Given the description of an element on the screen output the (x, y) to click on. 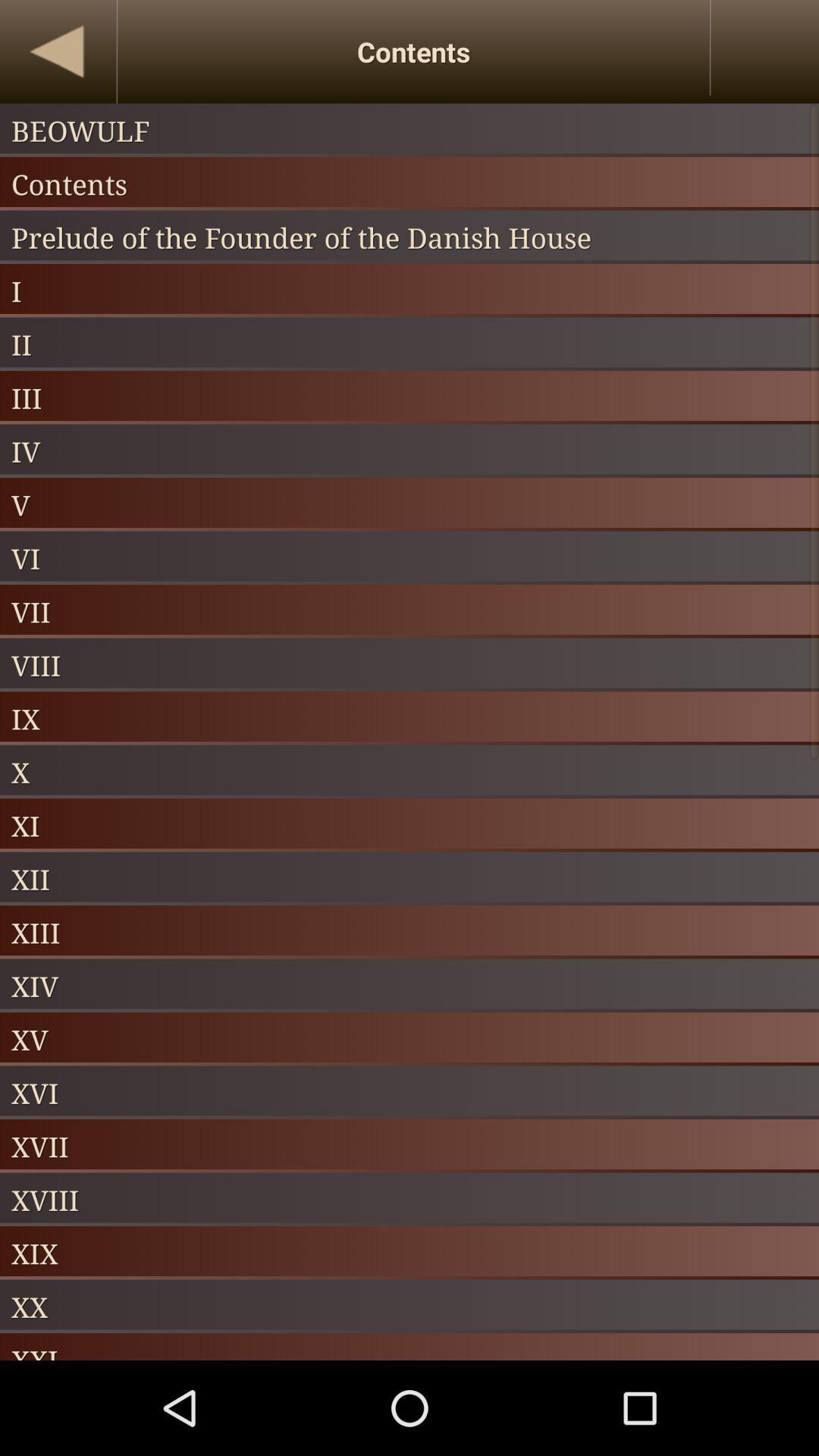
press the item above xxi icon (409, 1306)
